Given the description of an element on the screen output the (x, y) to click on. 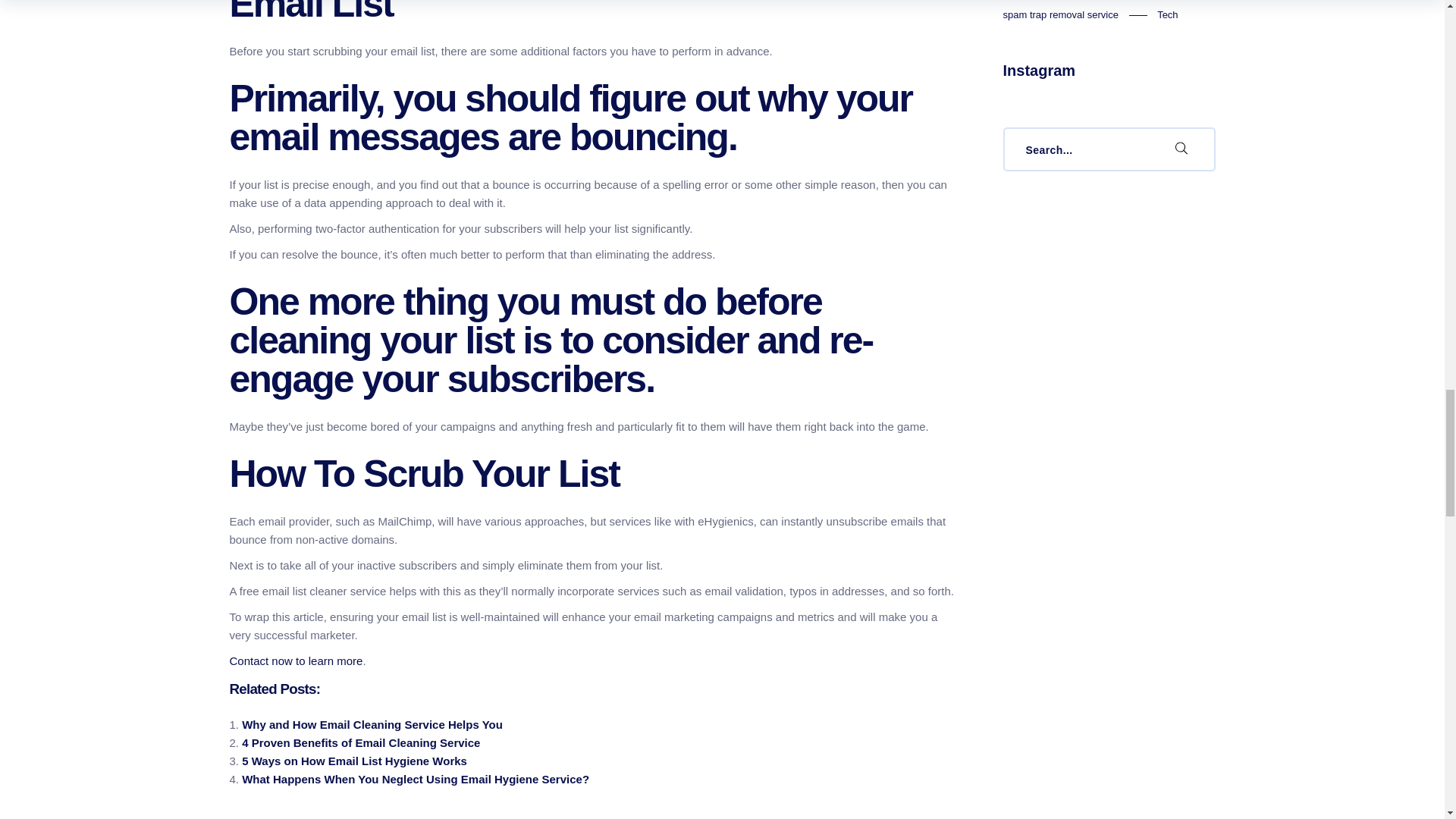
Why and How Email Cleaning Service Helps You (371, 724)
Why and How Email Cleaning Service Helps You (371, 724)
5 Ways on How Email List Hygiene Works (354, 760)
Contact now to learn more (295, 660)
What Happens When You Neglect Using Email Hygiene Service? (415, 779)
5 Ways on How Email List Hygiene Works (354, 760)
4 Proven Benefits of Email Cleaning Service (360, 742)
4 Proven Benefits of Email Cleaning Service (360, 742)
What Happens When You Neglect Using Email Hygiene Service? (415, 779)
